Given the description of an element on the screen output the (x, y) to click on. 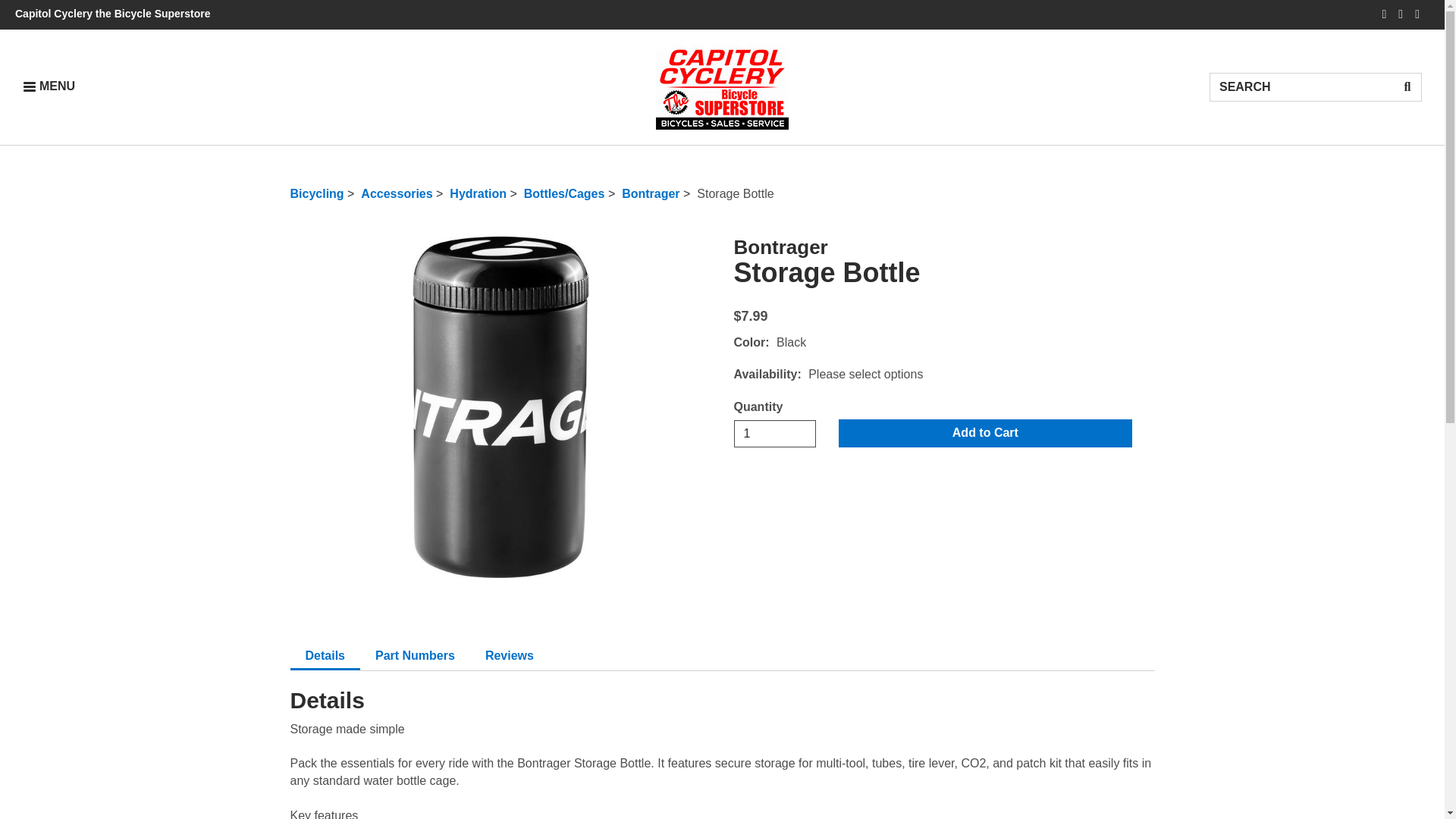
Capitol Cyclery the Bicycle Superstore (112, 13)
Search (49, 87)
Capitol Cyclery the Bicycle Superstore Home Page (1407, 86)
Search (722, 87)
Hydration (1301, 86)
Bicycling (477, 193)
Accessories (316, 193)
1 (396, 193)
Bontrager Storage Bottle (774, 433)
